Given the description of an element on the screen output the (x, y) to click on. 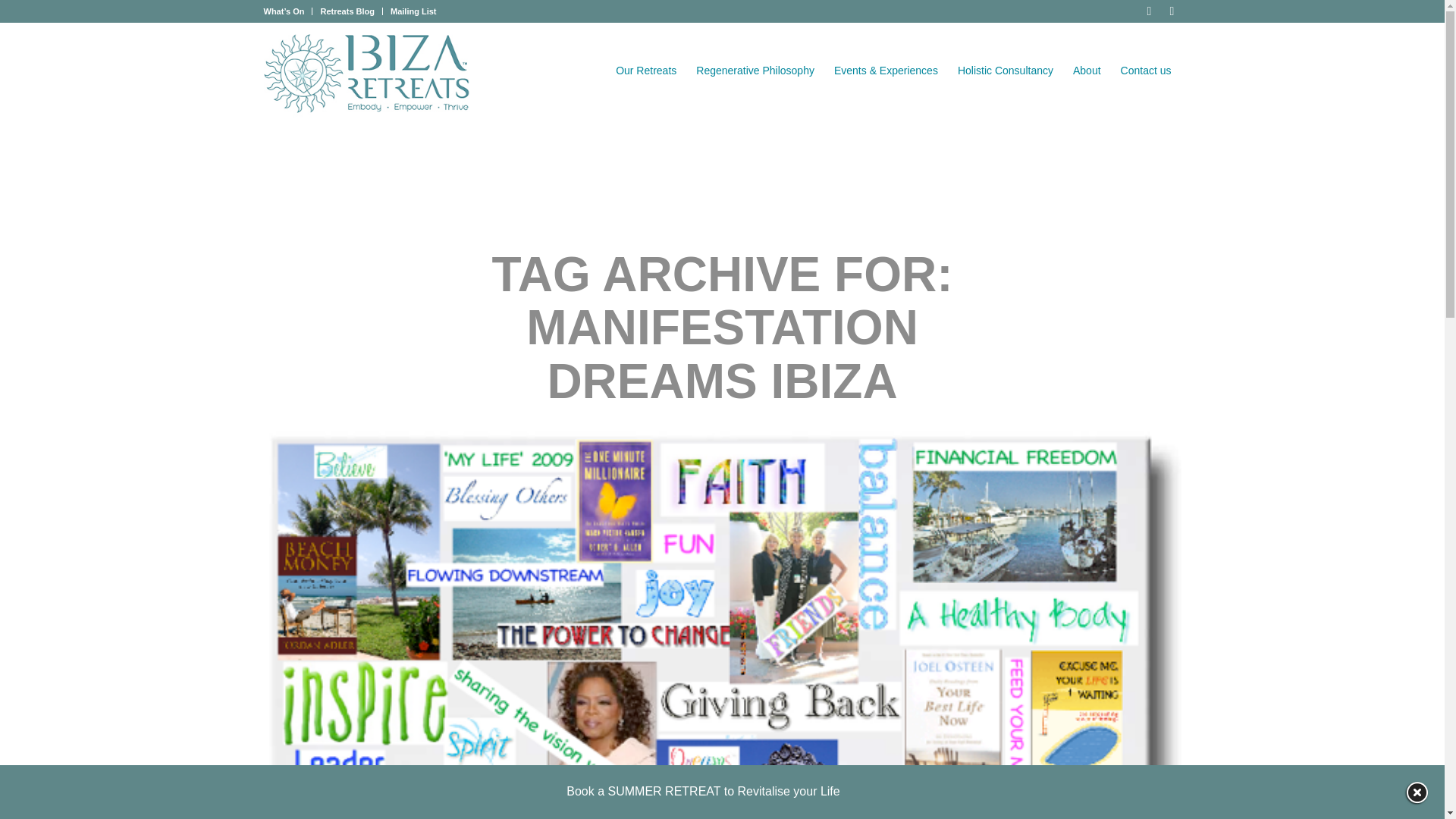
Mailing List (413, 11)
Regenerative Philosophy (754, 70)
Holistic Consultancy (1004, 70)
Instagram (1171, 11)
Facebook (1148, 11)
Ibiza Retreats With Slogan 2 (366, 73)
Retreats Blog (347, 11)
